Given the description of an element on the screen output the (x, y) to click on. 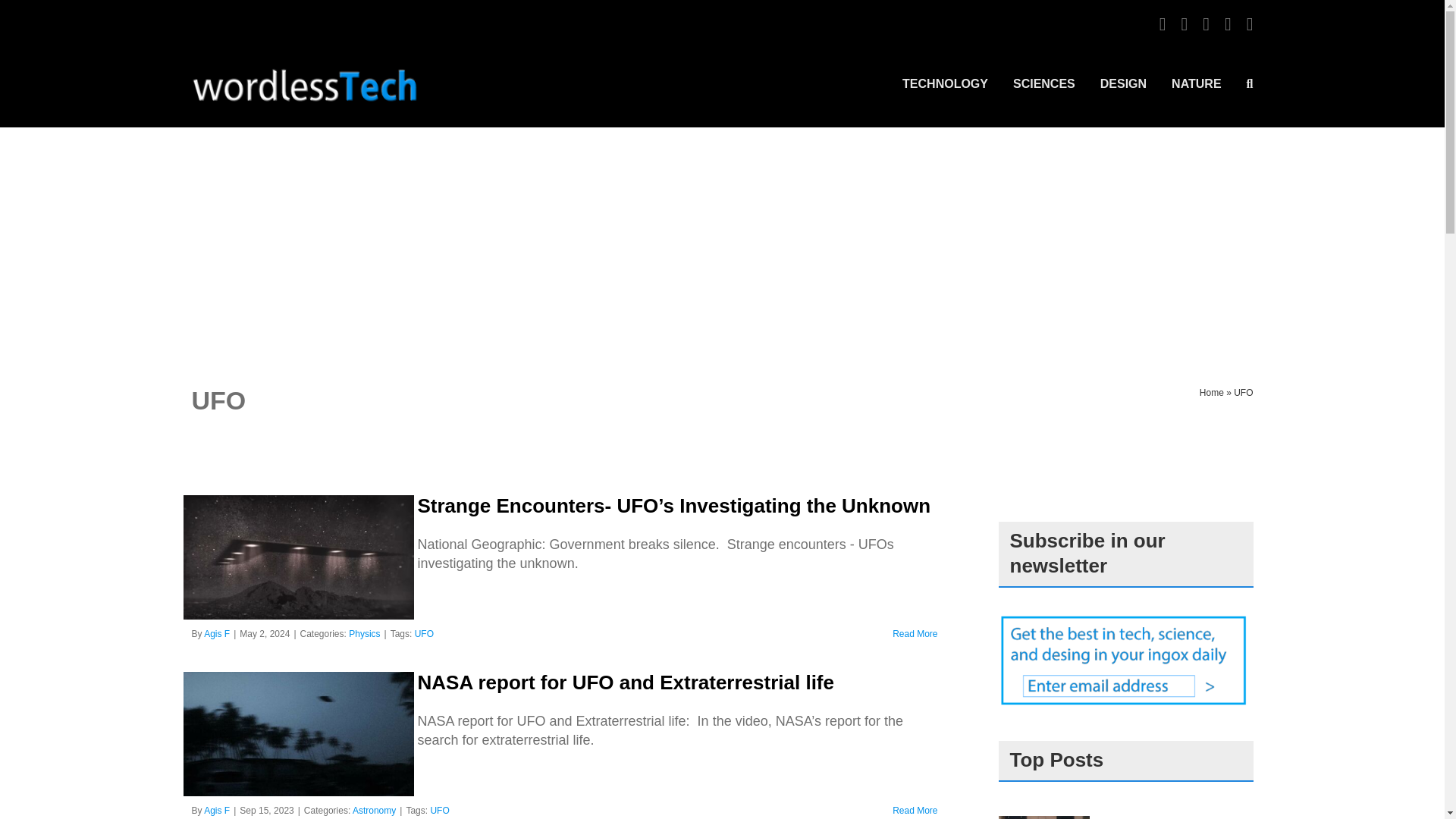
TECHNOLOGY (945, 83)
Posts by Agis F (216, 633)
SCIENCES (1044, 83)
Strange Encounters- UFO's Investigating the Unknown 1 (298, 557)
NASA report for UFO and Extraterrestrial life 2 (298, 733)
NATURE (1196, 83)
Posts by Agis F (216, 810)
